Given the description of an element on the screen output the (x, y) to click on. 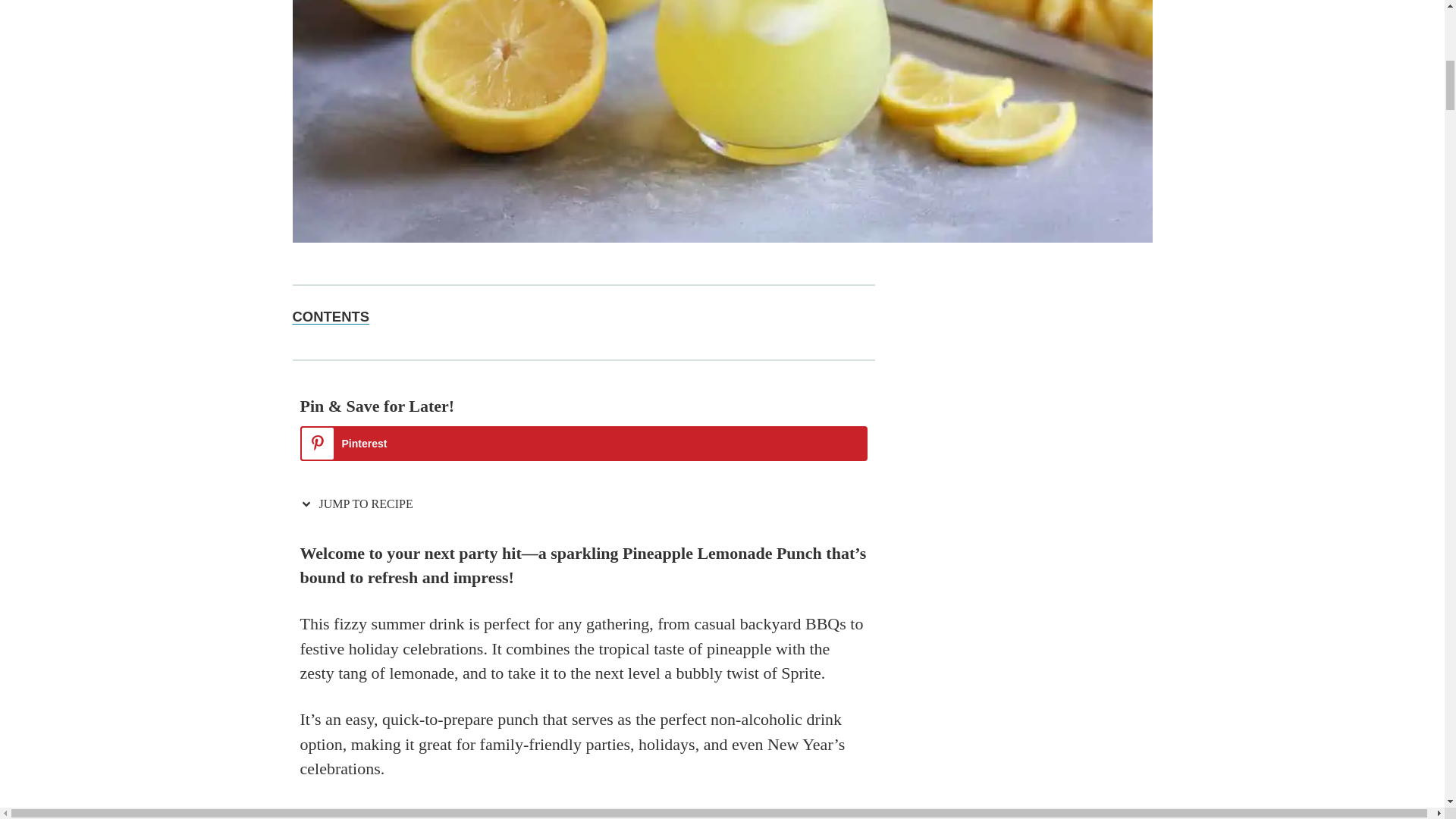
JUMP TO RECIPE (359, 503)
Save to Pinterest (583, 443)
Pinterest (583, 443)
